Given the description of an element on the screen output the (x, y) to click on. 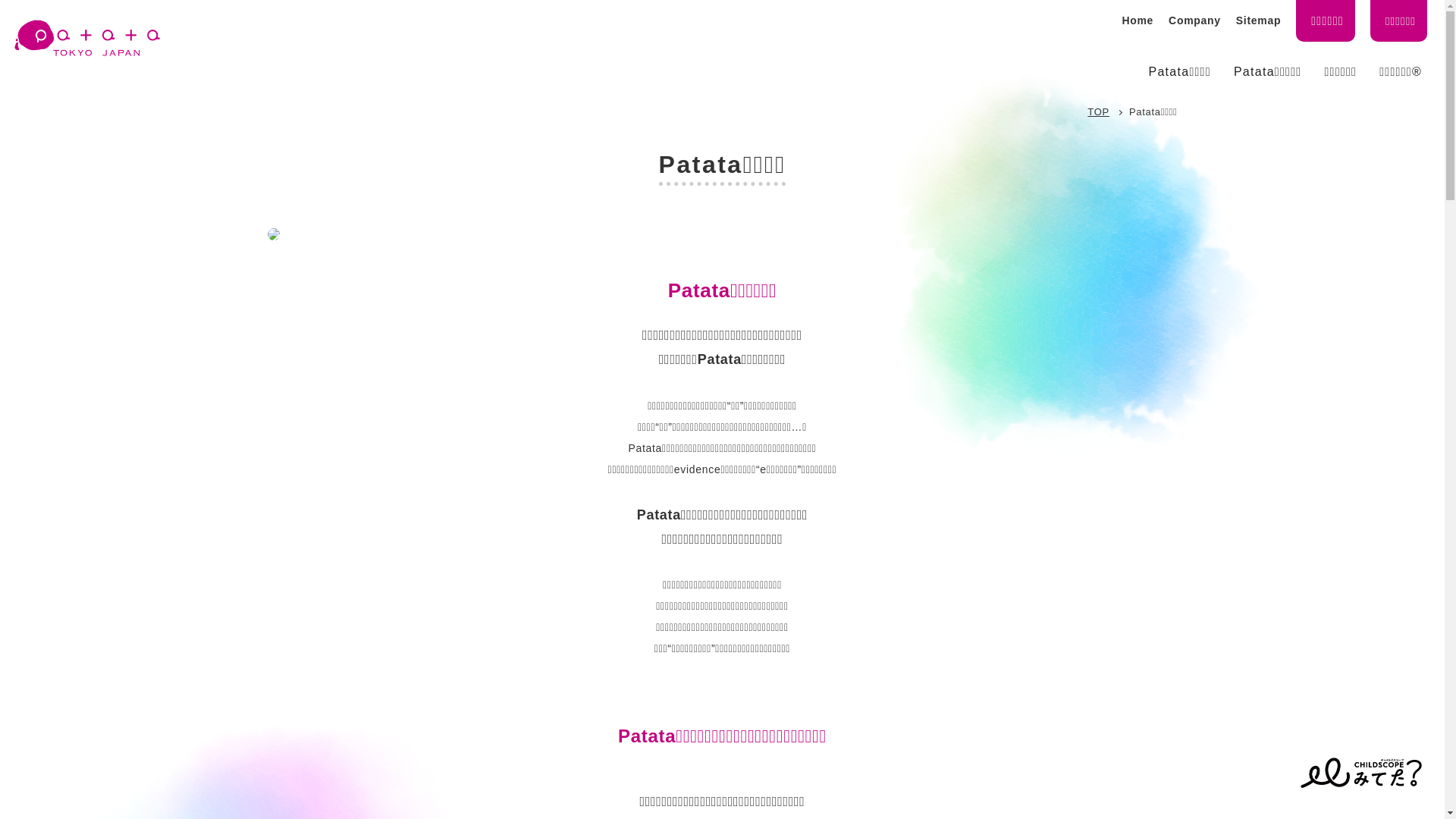
Company Element type: text (1194, 20)
Sitemap Element type: text (1258, 20)
TOP Element type: text (1098, 111)
Home Element type: text (1137, 20)
